Given the description of an element on the screen output the (x, y) to click on. 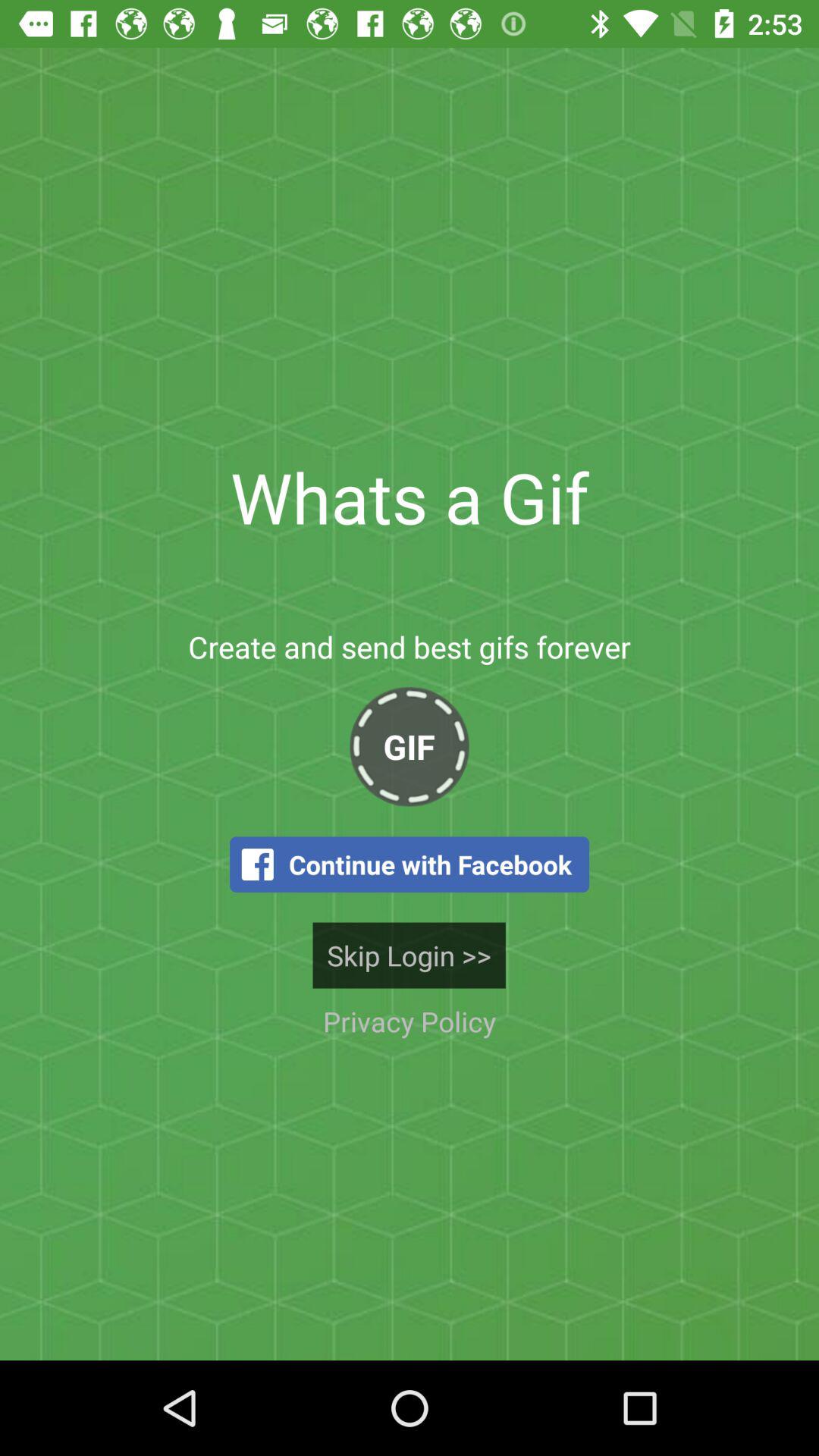
jump to the continue with facebook icon (409, 864)
